Given the description of an element on the screen output the (x, y) to click on. 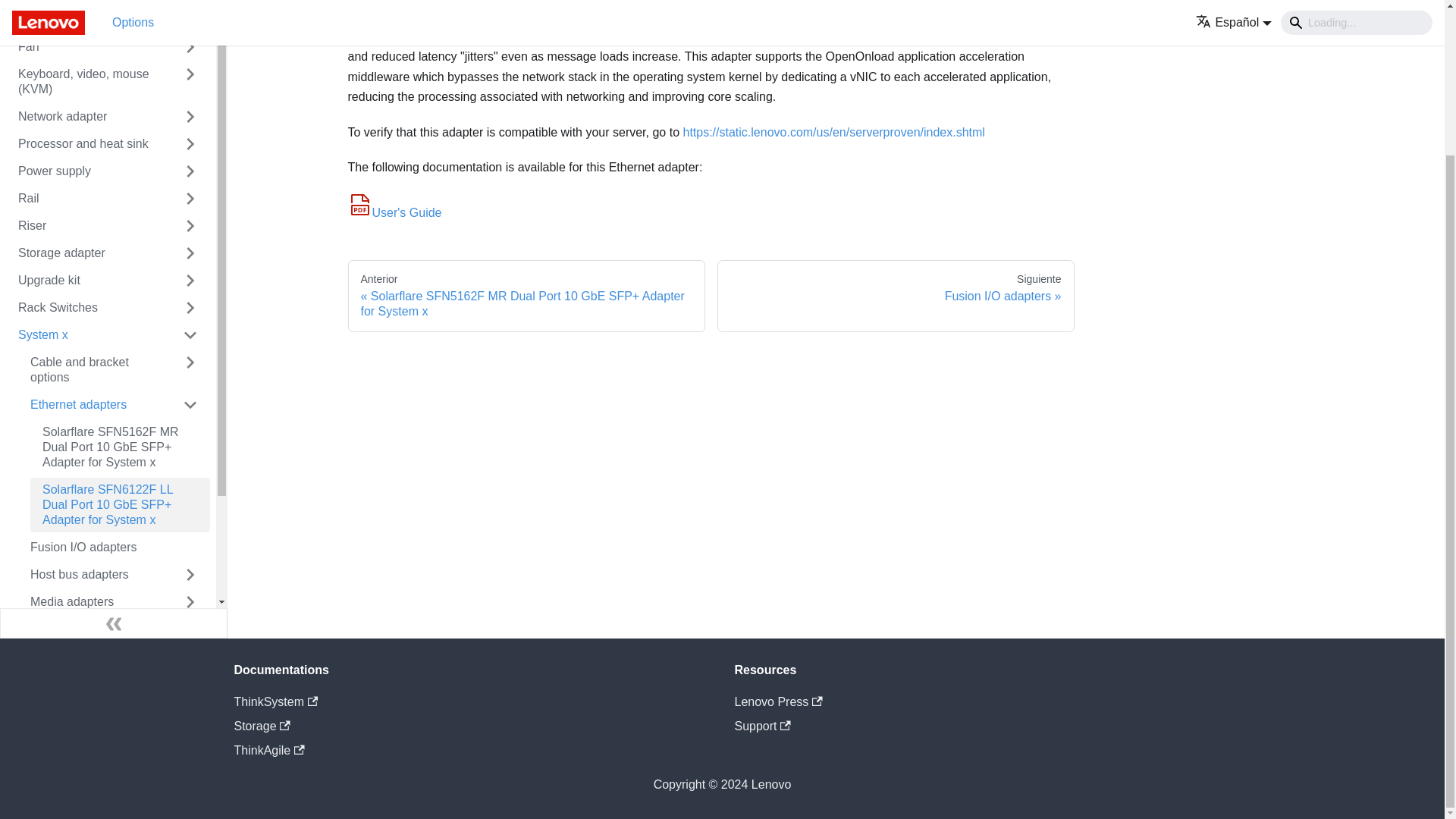
User's Guide (394, 212)
Rail (86, 198)
Power supply (86, 170)
Network adapter (86, 116)
Colapsar barra lateral (113, 623)
Cable kit (86, 2)
Fan (86, 46)
Processor and heat sink (86, 143)
DIMM (86, 19)
